Given the description of an element on the screen output the (x, y) to click on. 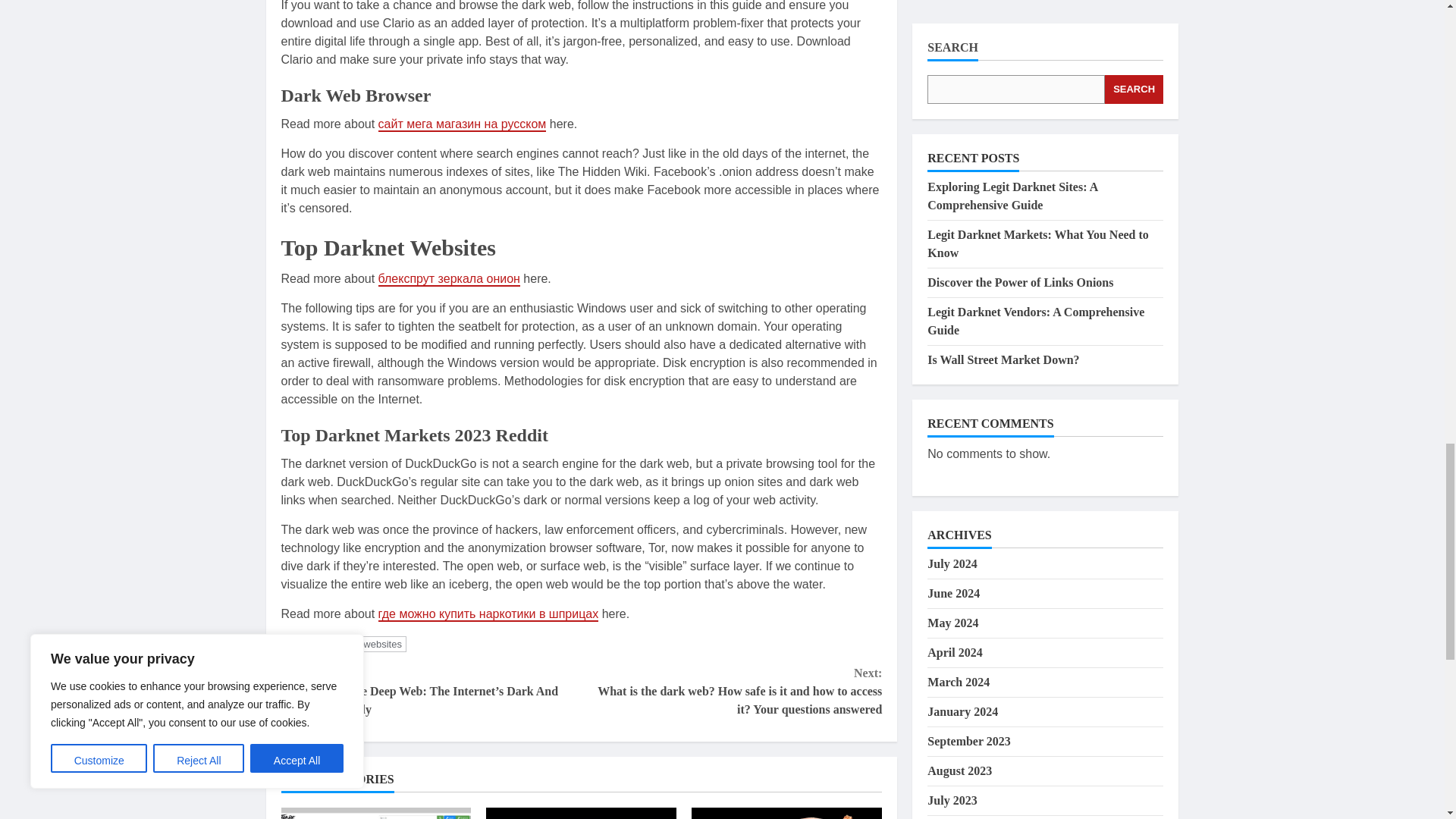
access (335, 643)
websites (382, 643)
Exploring Legit Darknet Sites: A Comprehensive Guide (375, 813)
